Given the description of an element on the screen output the (x, y) to click on. 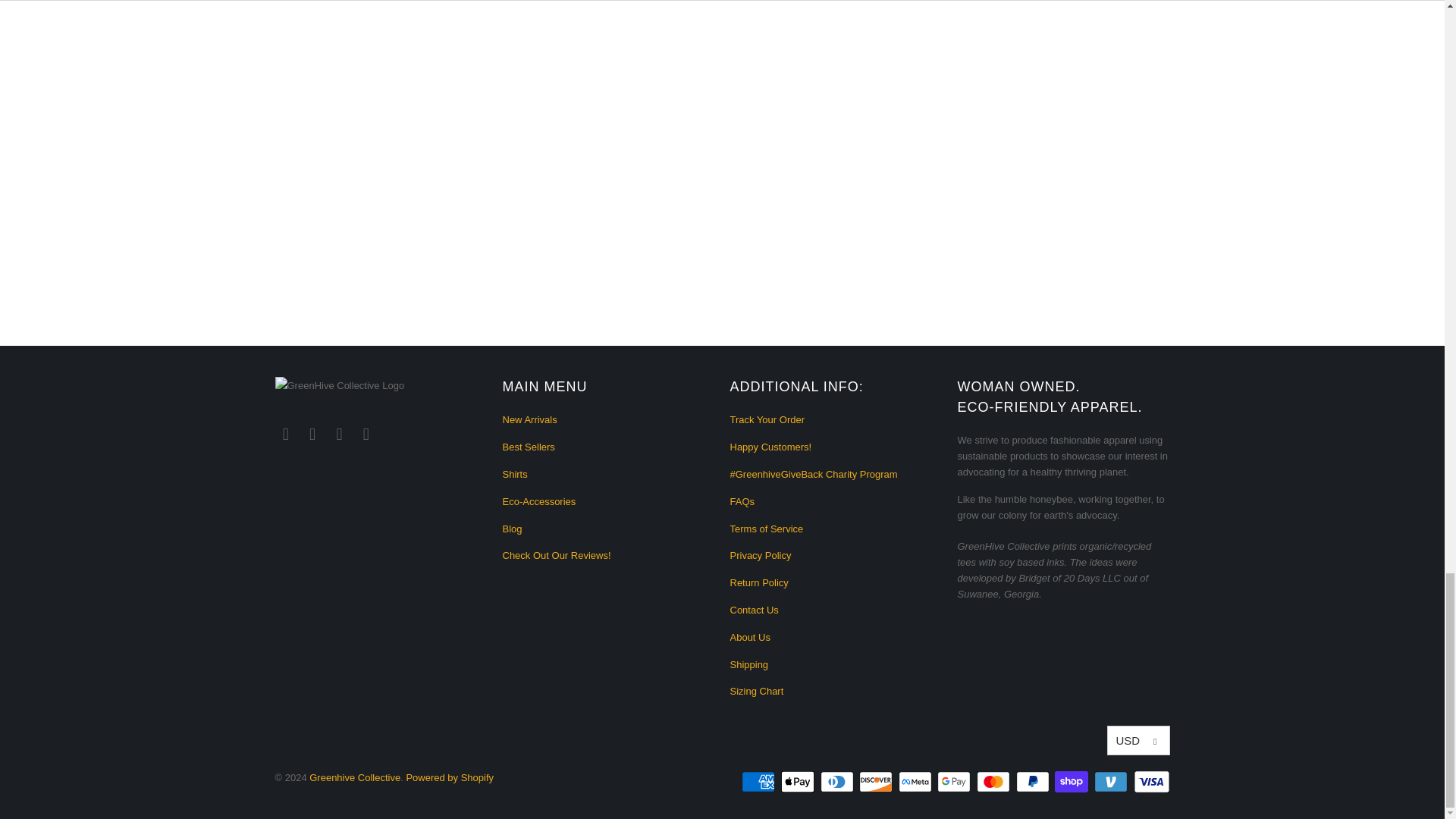
Google Pay (955, 781)
Mastercard (994, 781)
Apple Pay (798, 781)
Diners Club (839, 781)
Discover (877, 781)
Visa (1150, 781)
Venmo (1112, 781)
Shop Pay (1072, 781)
American Express (759, 781)
PayPal (1034, 781)
